Given the description of an element on the screen output the (x, y) to click on. 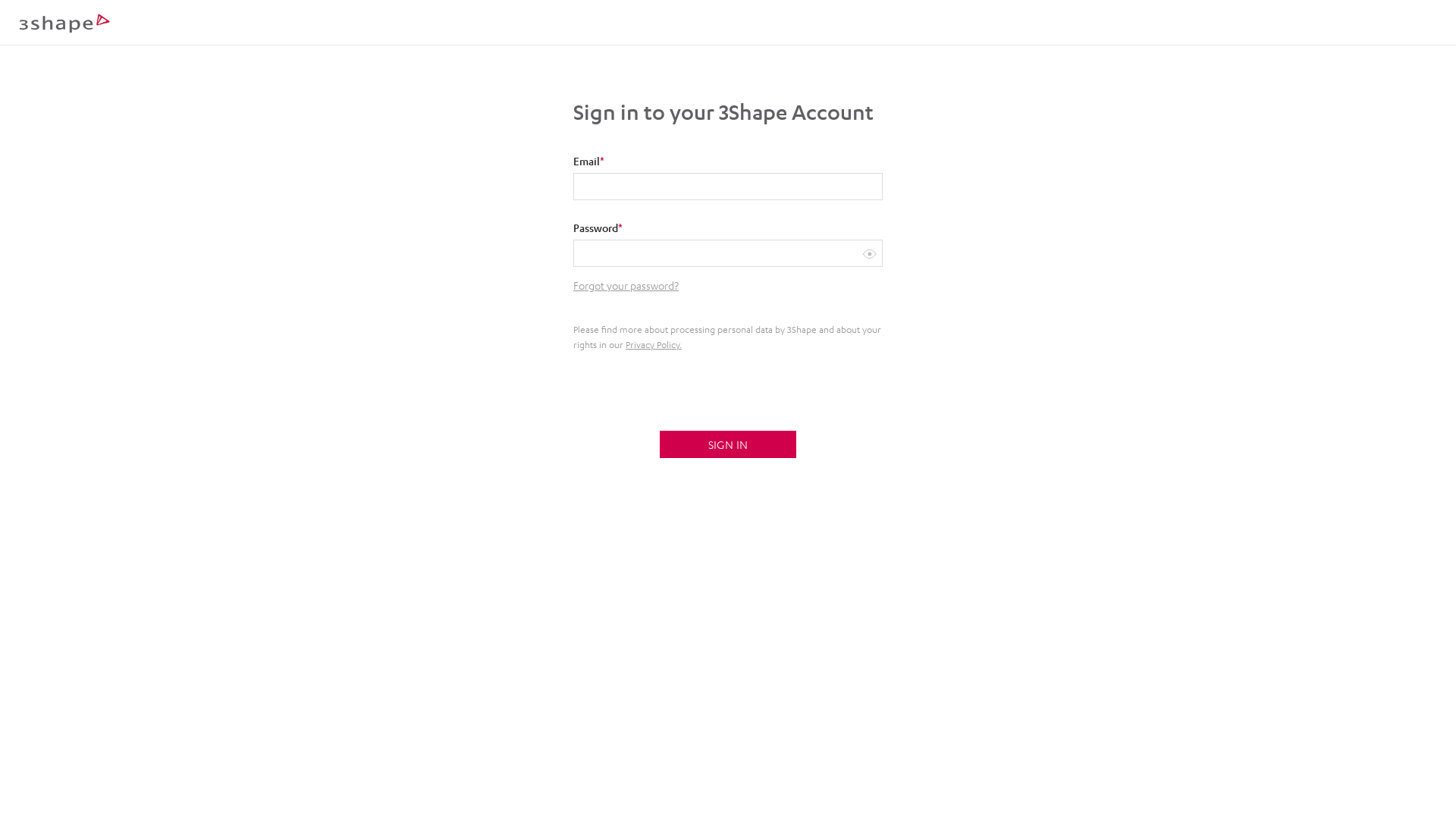
SIGN IN Element type: text (727, 444)
Privacy Policy. Element type: text (653, 344)
Show Element type: hover (868, 253)
Forgot your password? Element type: text (625, 284)
